Given the description of an element on the screen output the (x, y) to click on. 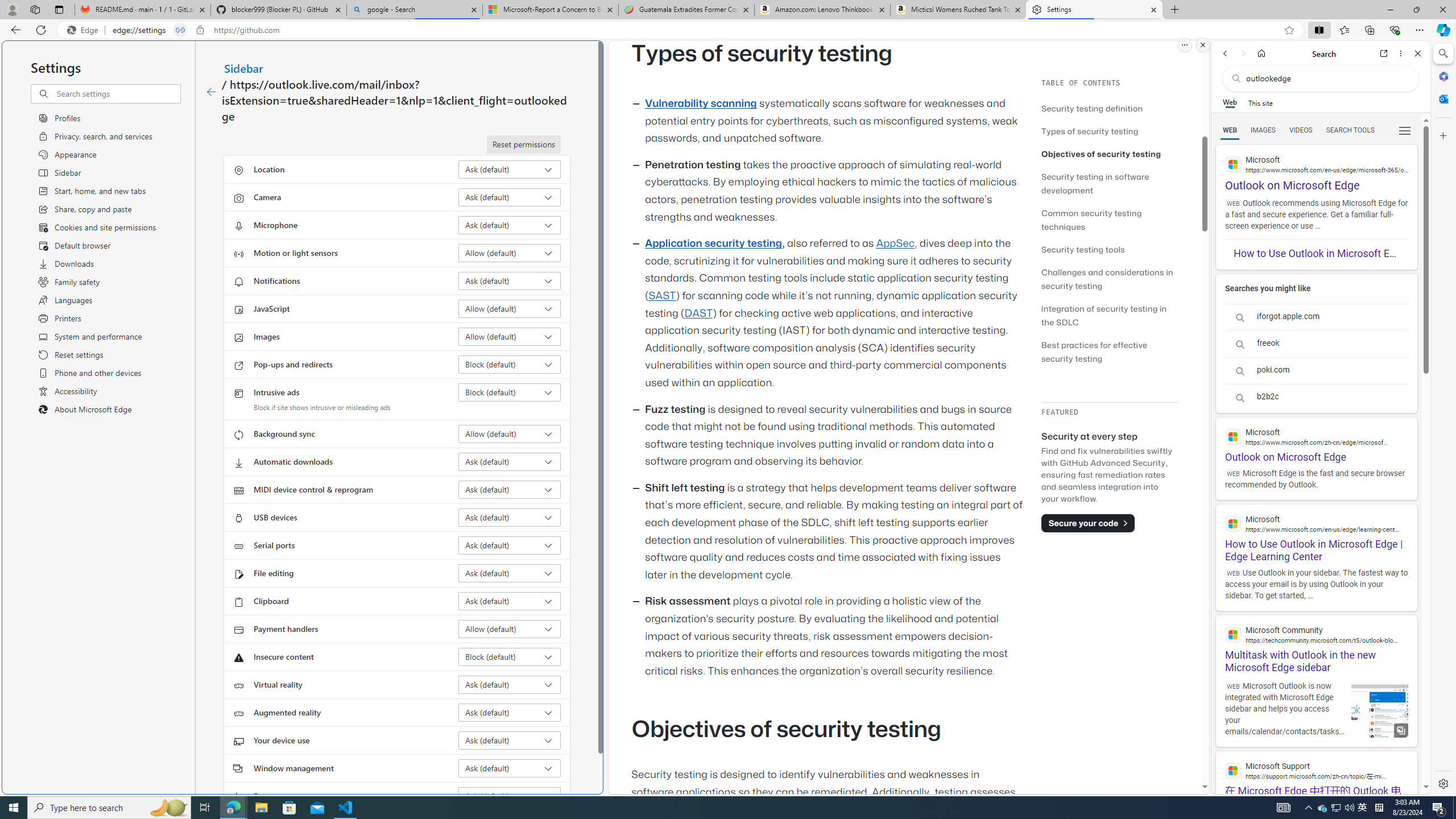
Global web icon (1232, 770)
Virtual reality Ask (default) (509, 684)
Types of security testing (1089, 130)
AppSec (895, 243)
Window management Ask (default) (509, 768)
Microsoft Support (1315, 770)
Insecure content Block (default) (509, 656)
Clipboard Ask (default) (509, 601)
